Given the description of an element on the screen output the (x, y) to click on. 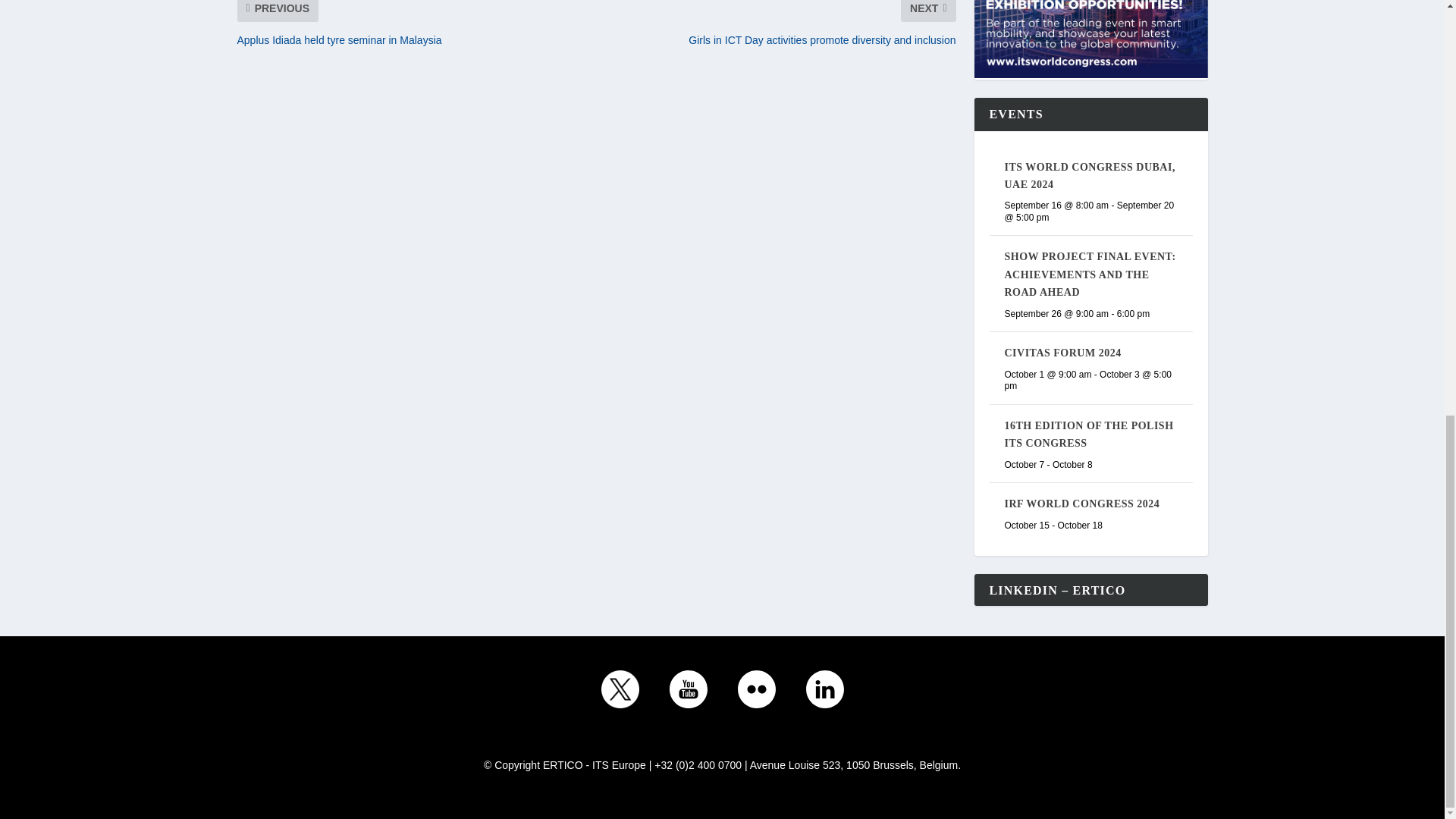
SHOW PROJECT FINAL EVENT: ACHIEVEMENTS AND THE ROAD AHEAD (1089, 274)
CIVITAS FORUM 2024 (1062, 352)
ITS WORLD CONGRESS DUBAI, UAE 2024 (1089, 175)
